Given the description of an element on the screen output the (x, y) to click on. 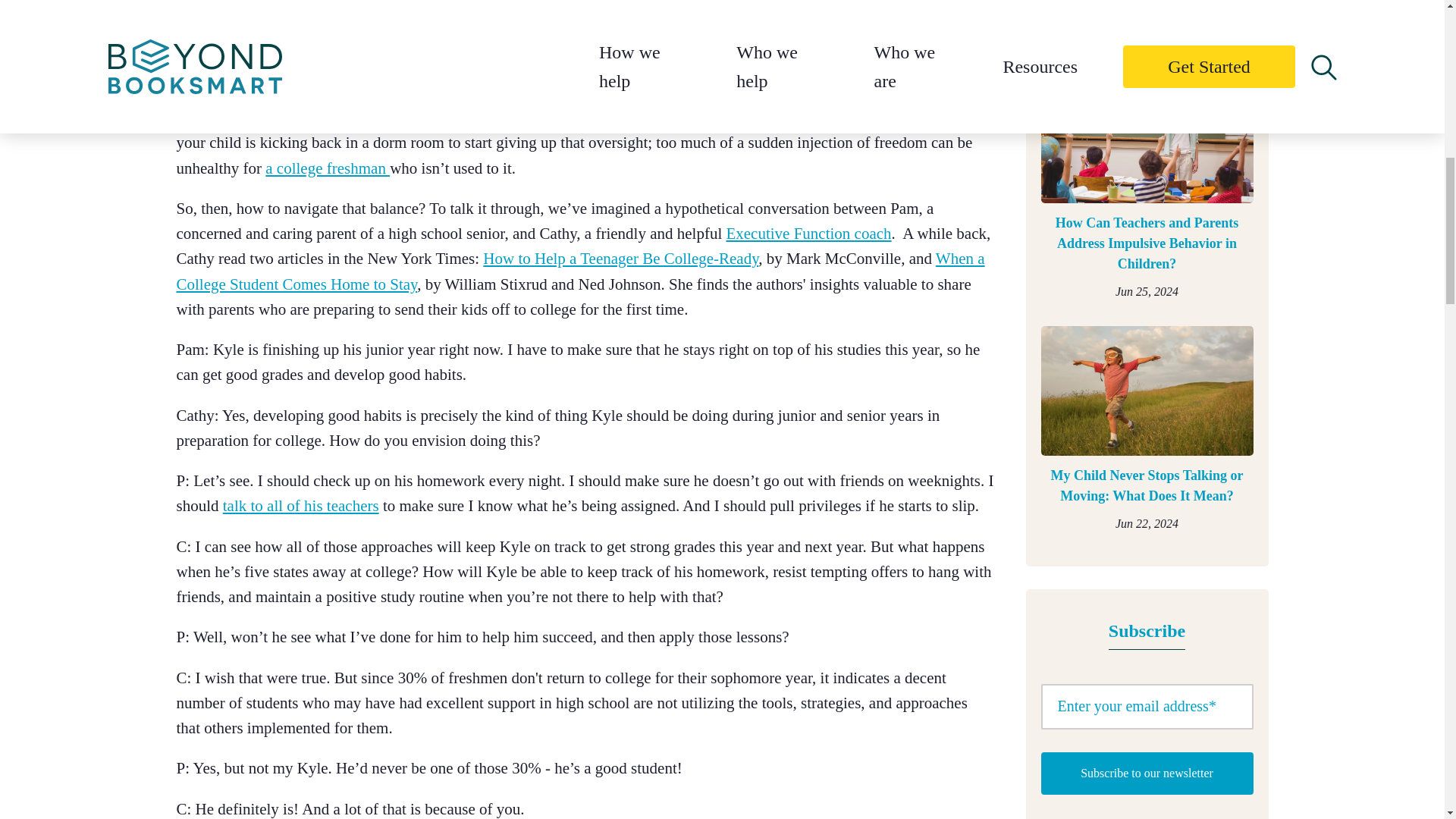
How to Help a Teenager Be College-Ready (620, 258)
When a College Student Comes Home to Stay (580, 270)
Executive Function coach (808, 233)
My Child Never Stops Talking or Moving: What Does ... (1146, 486)
seeing that baby leave for college (628, 67)
a college freshman (327, 167)
Subscribe to our newsletter (1146, 773)
How Can Teachers and Parents Address Impulsive Beh... (1146, 243)
talk to all of his teachers (300, 505)
Is It Common for Kids With ADHD to Have Trouble Sl... (1146, 11)
